Given the description of an element on the screen output the (x, y) to click on. 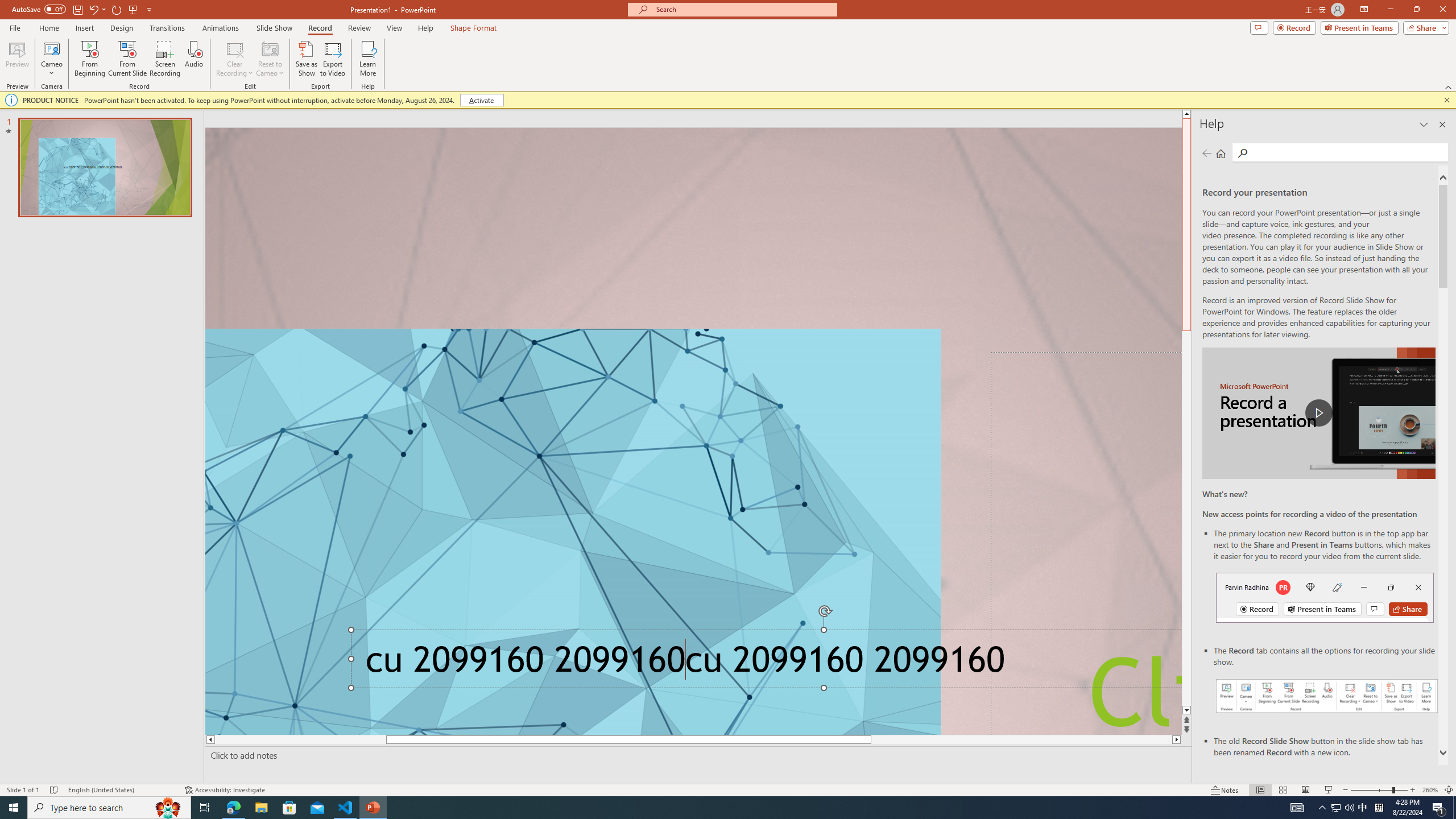
Zoom 260% (1430, 790)
Record your presentations screenshot one (1326, 695)
